Given the description of an element on the screen output the (x, y) to click on. 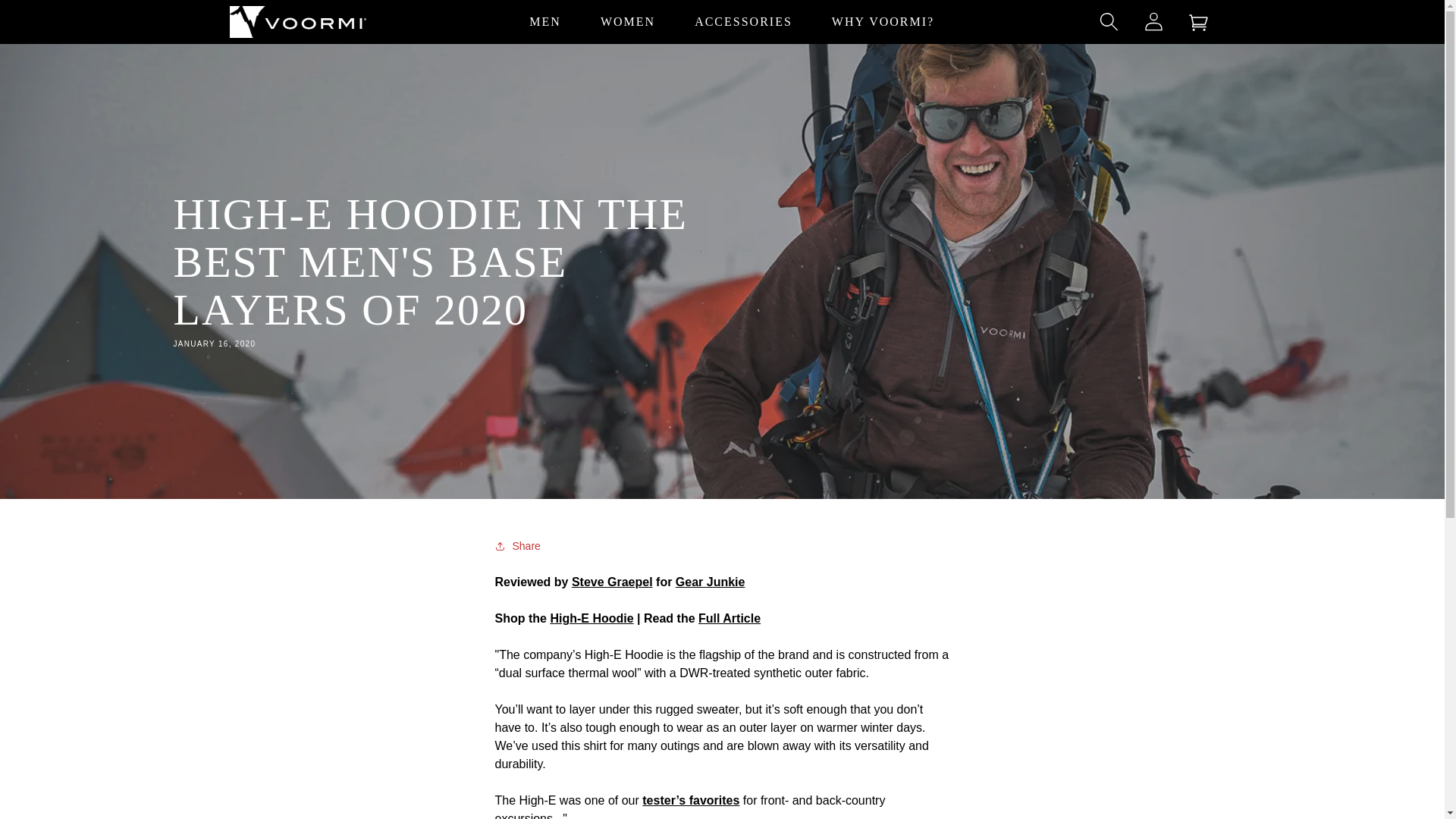
Men's High-E Hoodie (591, 617)
Gear Junkie Best base layers in 2020 (729, 617)
Steve Graepel (612, 581)
Gear Junkie (710, 581)
SKIP TO CONTENT (45, 4)
